Given the description of an element on the screen output the (x, y) to click on. 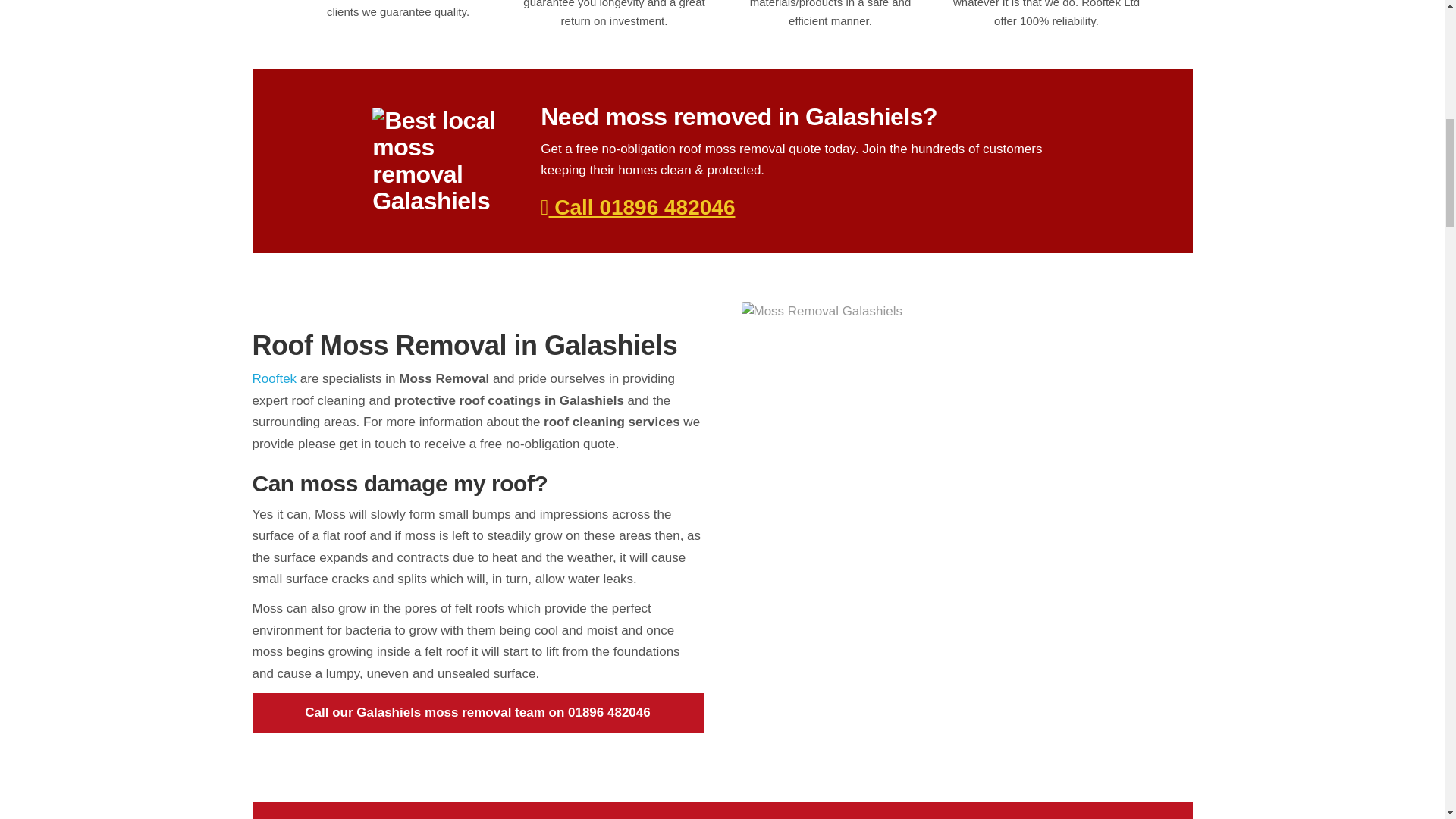
Rooftek (274, 378)
Call our Galashiels moss removal team on 01896 482046 (477, 712)
Call 01896 482046 (637, 207)
